Given the description of an element on the screen output the (x, y) to click on. 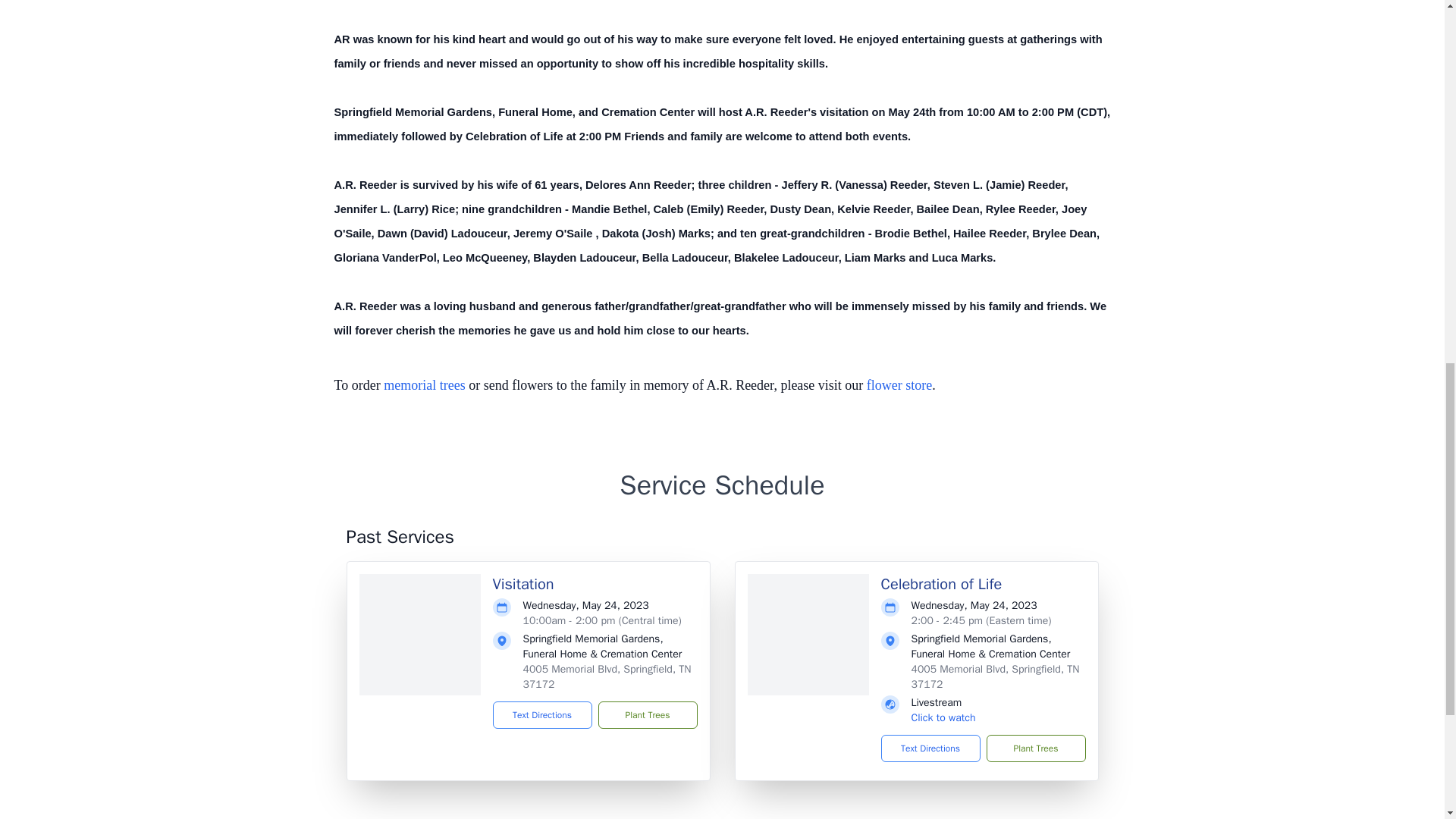
Text Directions (929, 748)
4005 Memorial Blvd, Springfield, TN 37172 (606, 676)
memorial trees (424, 385)
Plant Trees (646, 714)
flower store (898, 385)
Plant Trees (1034, 748)
Text Directions (542, 714)
4005 Memorial Blvd, Springfield, TN 37172 (995, 676)
Click to watch (943, 717)
